Given the description of an element on the screen output the (x, y) to click on. 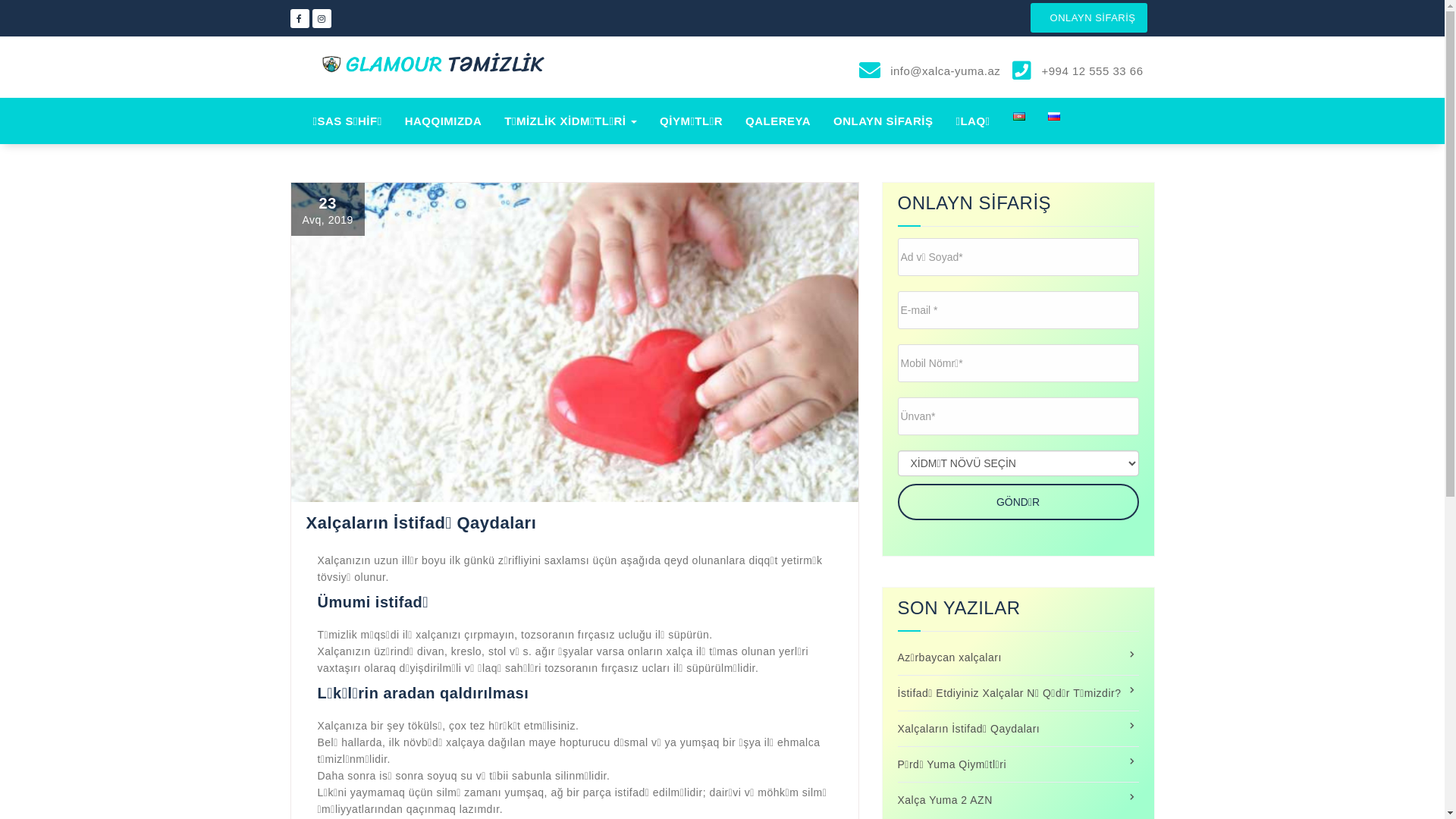
HAQQIMIZDA Element type: text (443, 120)
Skip to content Element type: text (0, 0)
QALEREYA Element type: text (778, 120)
+994 12 555 33 66 Element type: text (1090, 70)
info@xalca-yuma.az Element type: text (944, 70)
